Given the description of an element on the screen output the (x, y) to click on. 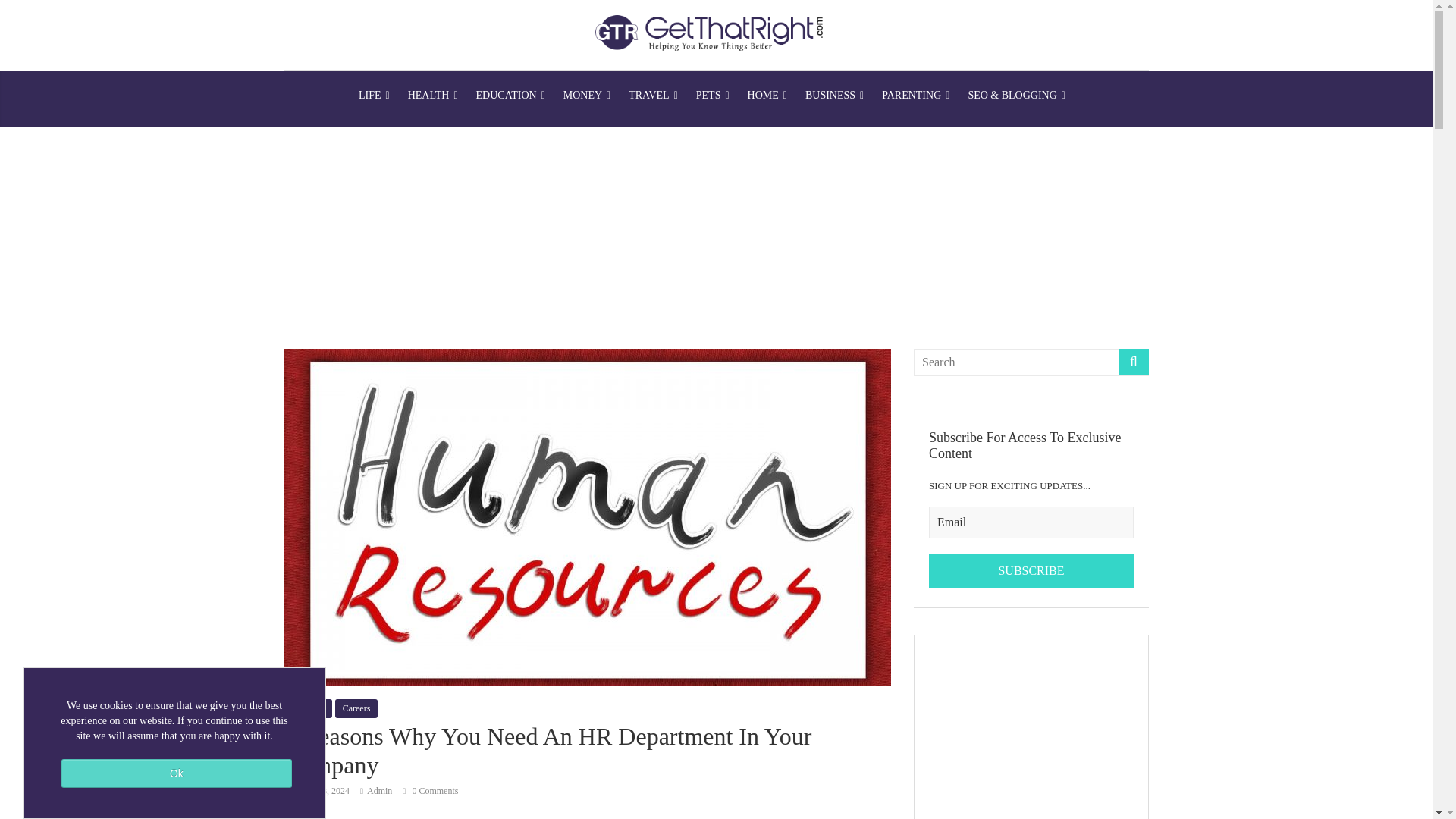
TRAVEL (653, 95)
LIFE (373, 95)
PETS (712, 95)
HEALTH (432, 95)
MONEY (587, 95)
Advertisement (1030, 727)
HOME (767, 95)
EDUCATION (510, 95)
Admin (378, 790)
5:27 am (316, 790)
Subscribe (1031, 570)
